Given the description of an element on the screen output the (x, y) to click on. 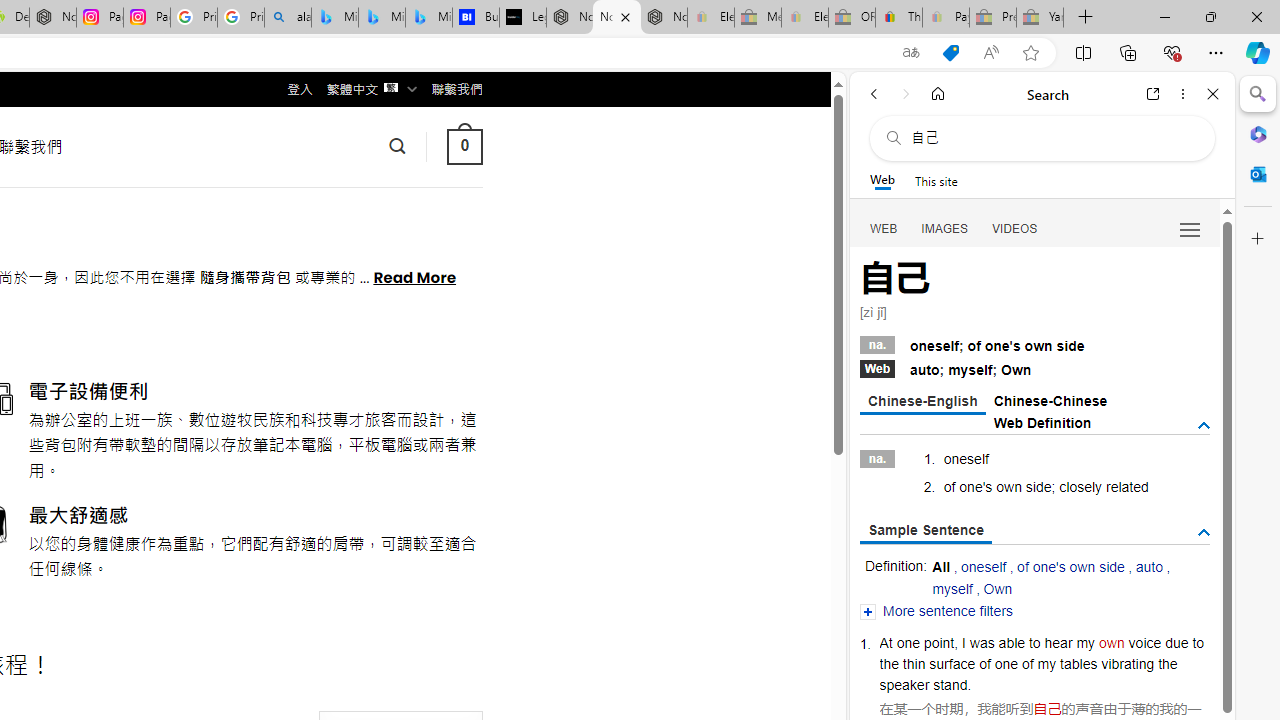
Payments Terms of Use | eBay.com - Sleeping (945, 17)
AutomationID: tgdef (1203, 425)
oneself (984, 566)
side (1038, 486)
Microsoft Bing Travel - Flights from Hong Kong to Bangkok (335, 17)
na.oneself; of one's own side (1034, 343)
